Given the description of an element on the screen output the (x, y) to click on. 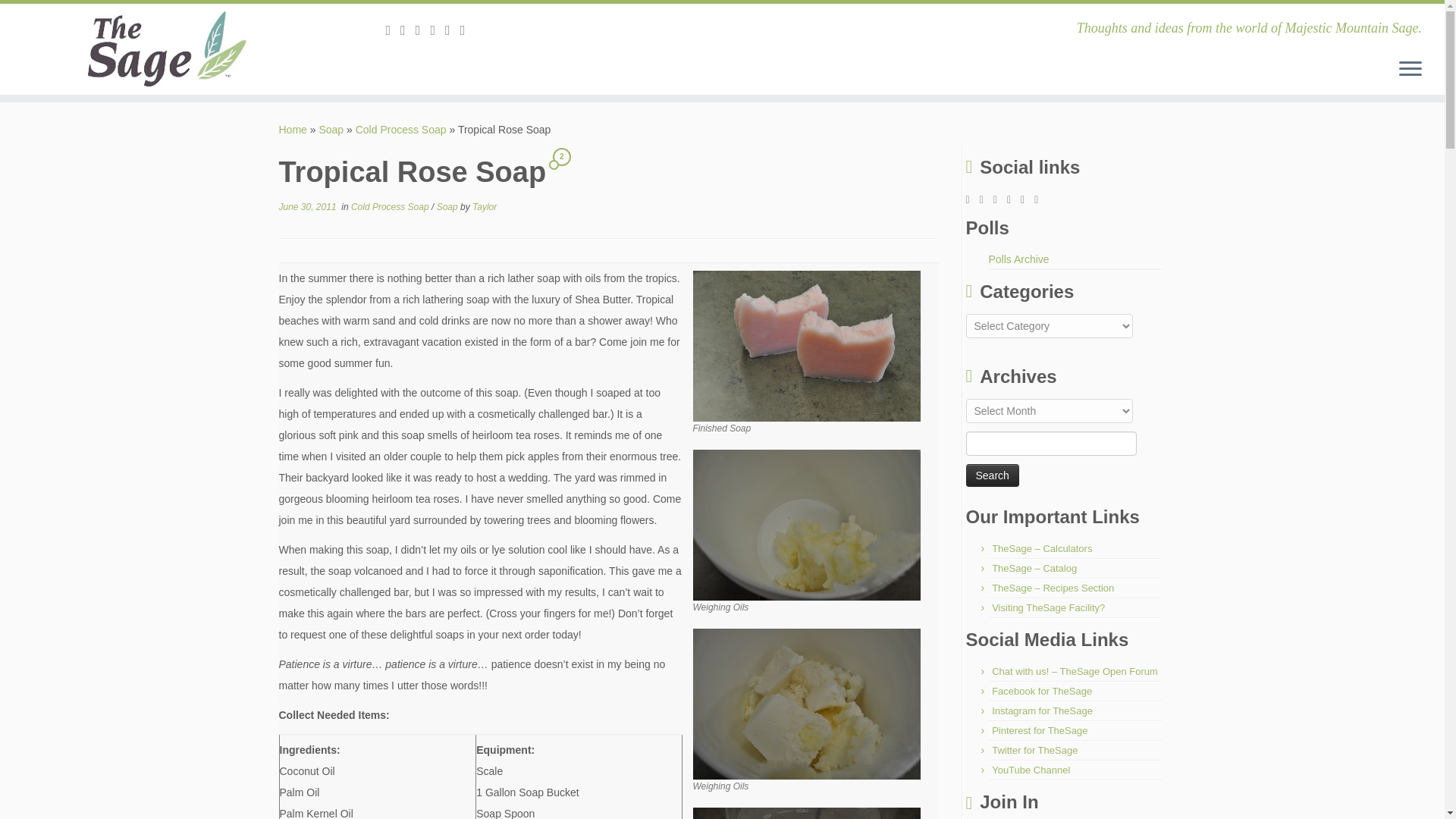
Taylor (483, 206)
Follow me on Facebook (437, 29)
View all posts by Taylor (483, 206)
Search (992, 475)
Cold Process Soap (400, 129)
Home (293, 129)
1:54 pm (307, 206)
View all posts in Soap (448, 206)
June 30, 2011 (307, 206)
Adventures With The Sage (293, 129)
Follow me on Instagram (452, 29)
Follow me on Twitter (422, 29)
Cold Process Soap (400, 129)
Subscribe to my rss feed (392, 29)
Soap (448, 206)
